Given the description of an element on the screen output the (x, y) to click on. 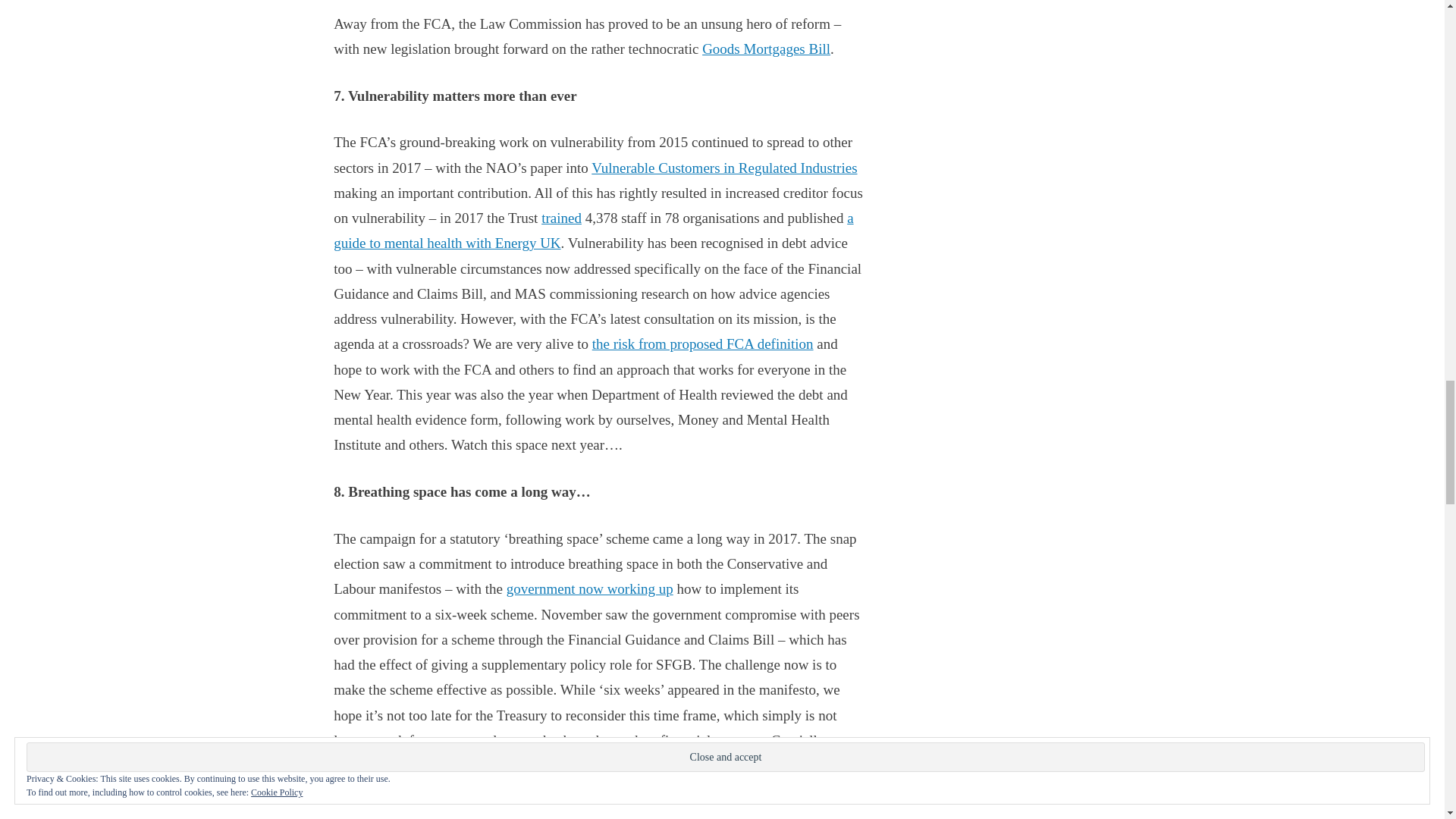
a guide to mental health with Energy UK (593, 229)
Goods Mortgages Bill (765, 48)
trained (560, 217)
Vulnerable Customers in Regulated Industries (724, 167)
government now working up (589, 588)
the risk from proposed FCA definition (702, 343)
